Given the description of an element on the screen output the (x, y) to click on. 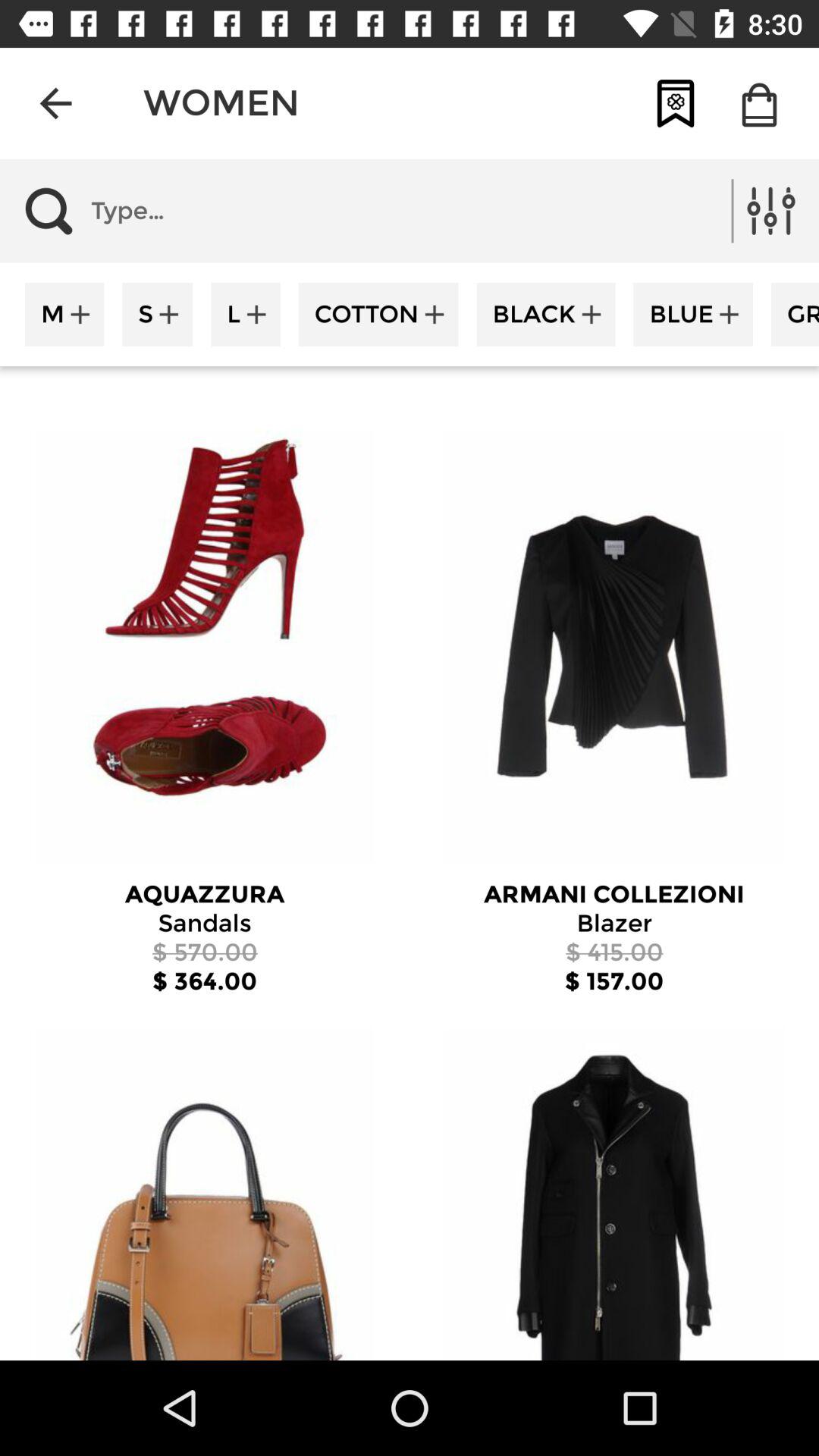
click the item next to the m icon (157, 314)
